Given the description of an element on the screen output the (x, y) to click on. 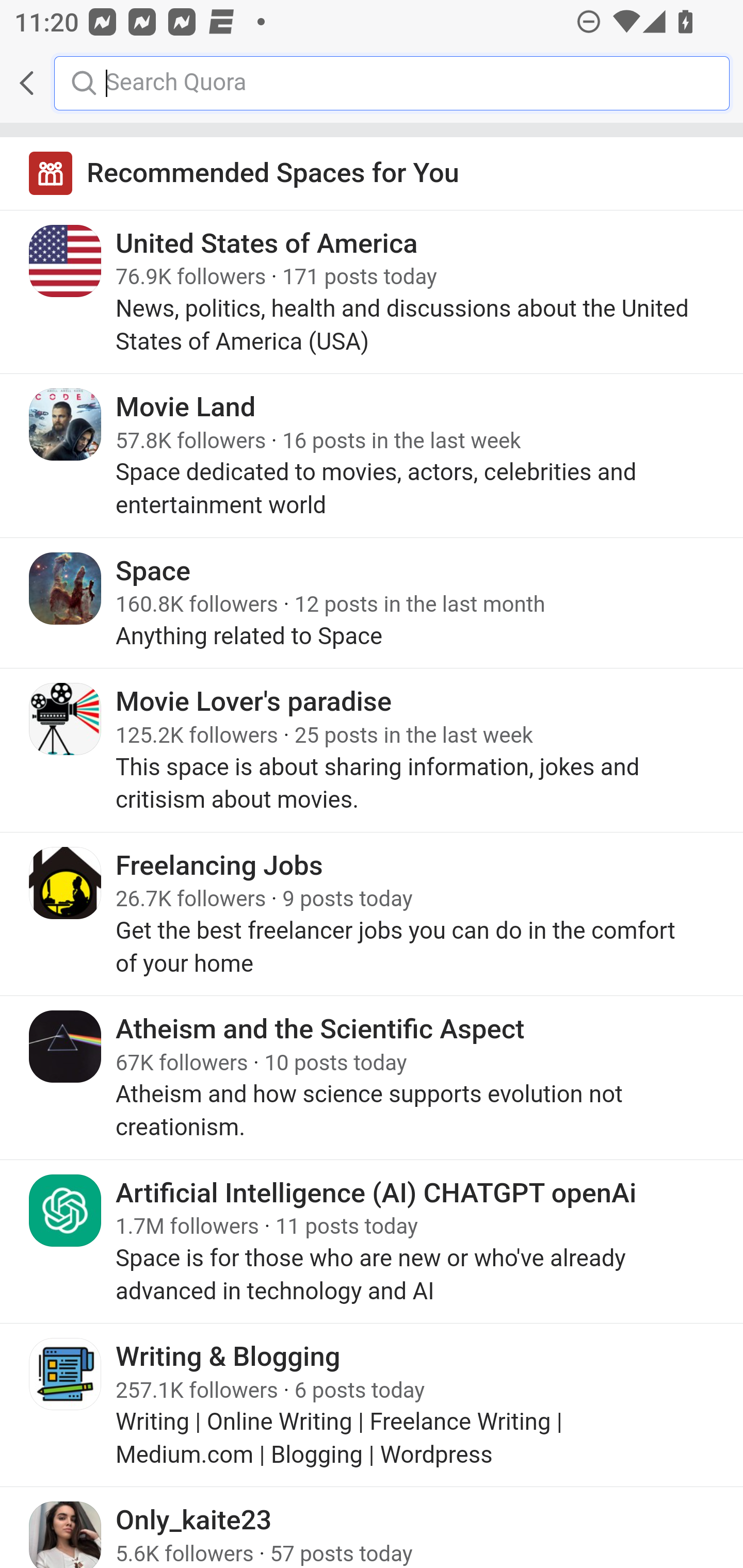
Me (64, 83)
Icon for United States of America (65, 260)
Icon for Movie Land (65, 424)
Icon for Space (65, 587)
Icon for Movie Lover's paradise (65, 718)
Icon for Freelancing Jobs (65, 882)
Icon for Atheism and the Scientific Aspect (65, 1045)
Icon for Writing & Blogging (65, 1374)
Icon for Only_kaite23 (65, 1534)
